Given the description of an element on the screen output the (x, y) to click on. 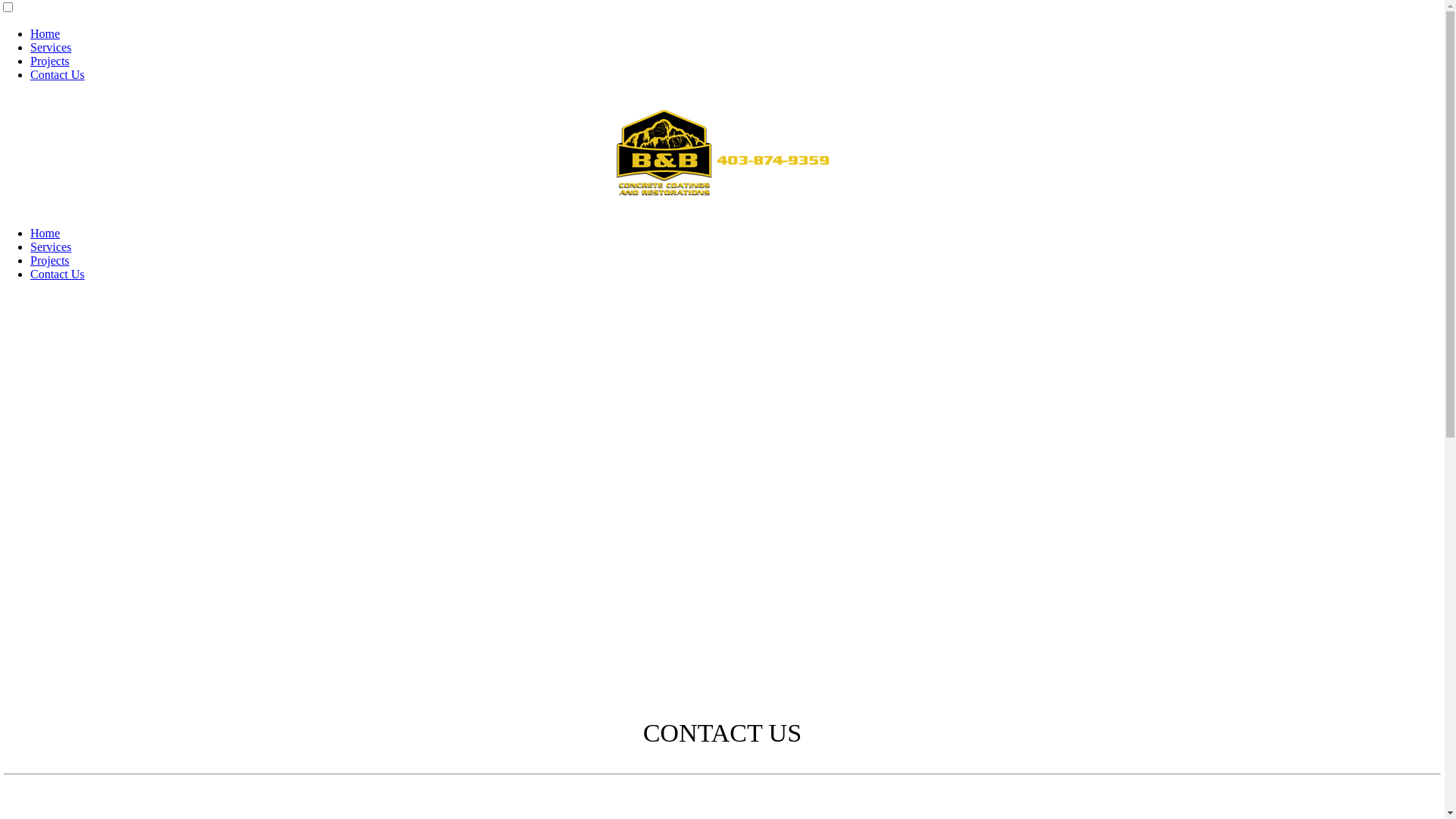
Contact Us Element type: text (57, 74)
Services Element type: text (50, 246)
Services Element type: text (50, 46)
Projects Element type: text (49, 260)
Home Element type: text (44, 33)
Contact Us Element type: text (57, 273)
Home Element type: text (44, 232)
Projects Element type: text (49, 60)
